Given the description of an element on the screen output the (x, y) to click on. 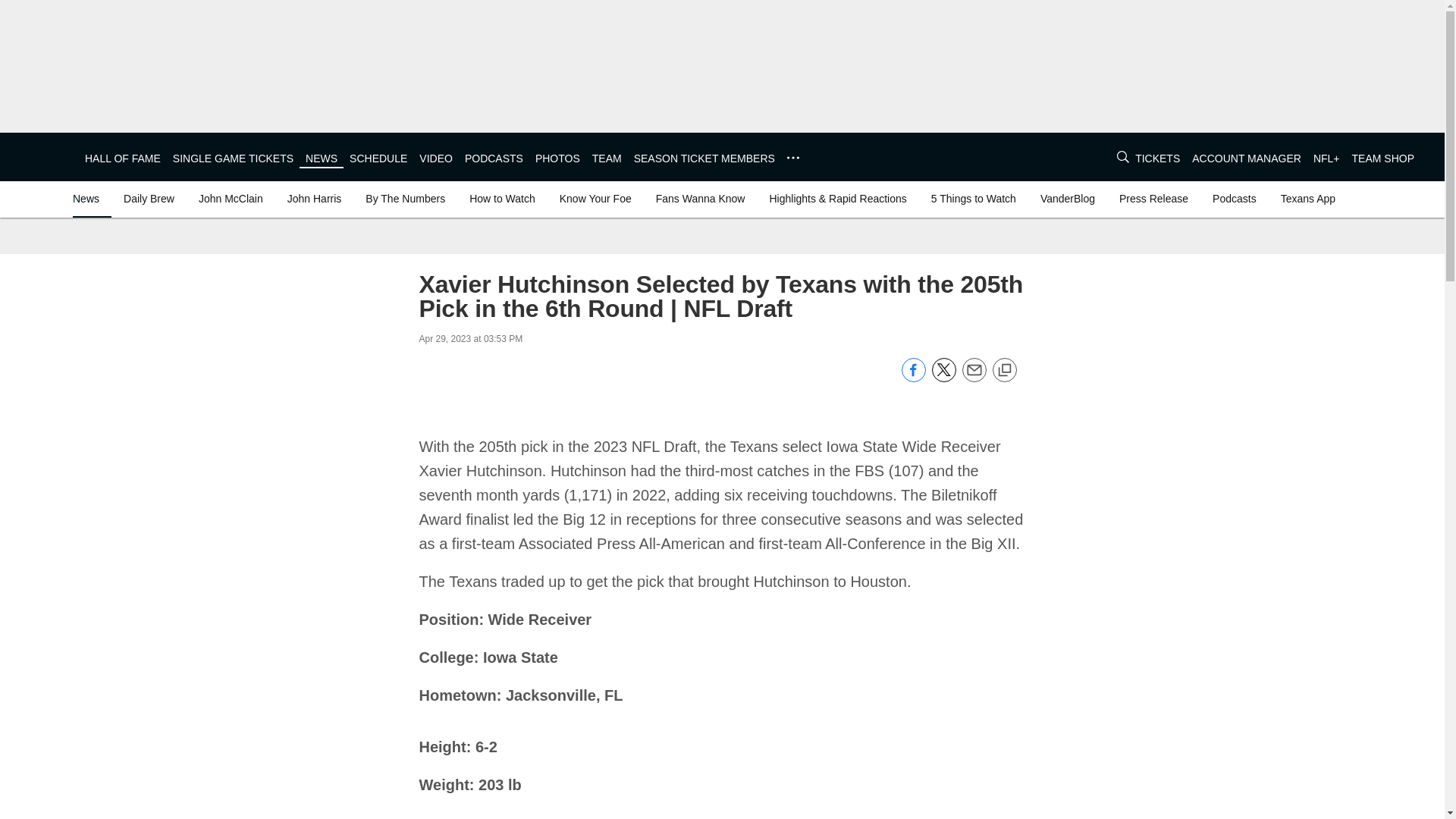
SEASON TICKET MEMBERS (703, 158)
VIDEO (435, 158)
PHOTOS (557, 158)
SCHEDULE (378, 158)
Know Your Foe (595, 198)
SEASON TICKET MEMBERS (703, 158)
TEAM (606, 158)
John Harris (314, 198)
TICKETS (1157, 158)
How to Watch (502, 198)
SINGLE GAME TICKETS (233, 158)
TICKETS (1157, 158)
Press Release (1153, 198)
... (793, 157)
SINGLE GAME TICKETS (233, 158)
